Given the description of an element on the screen output the (x, y) to click on. 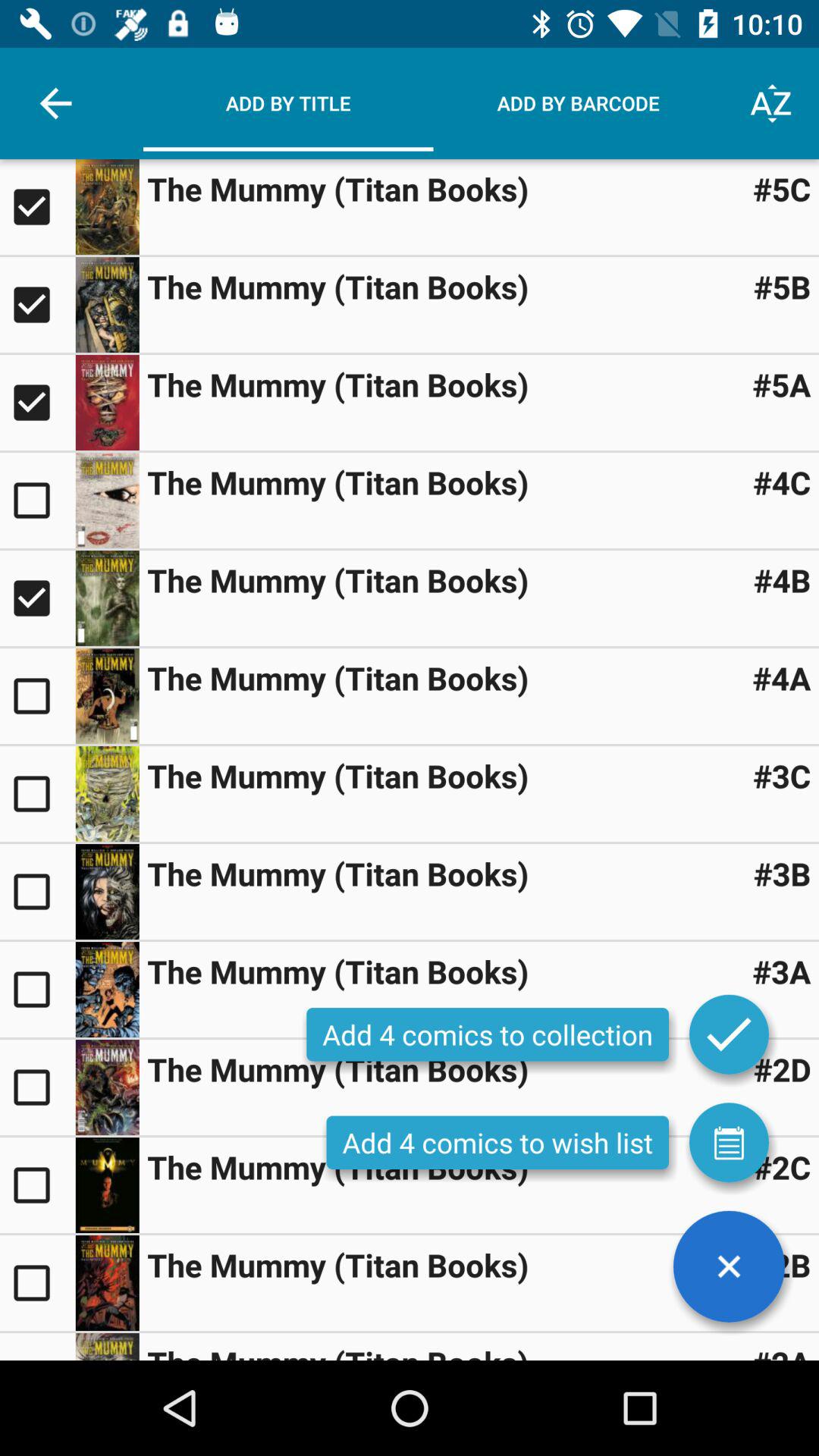
turn on icon to the right of the the mummy titan item (782, 286)
